Given the description of an element on the screen output the (x, y) to click on. 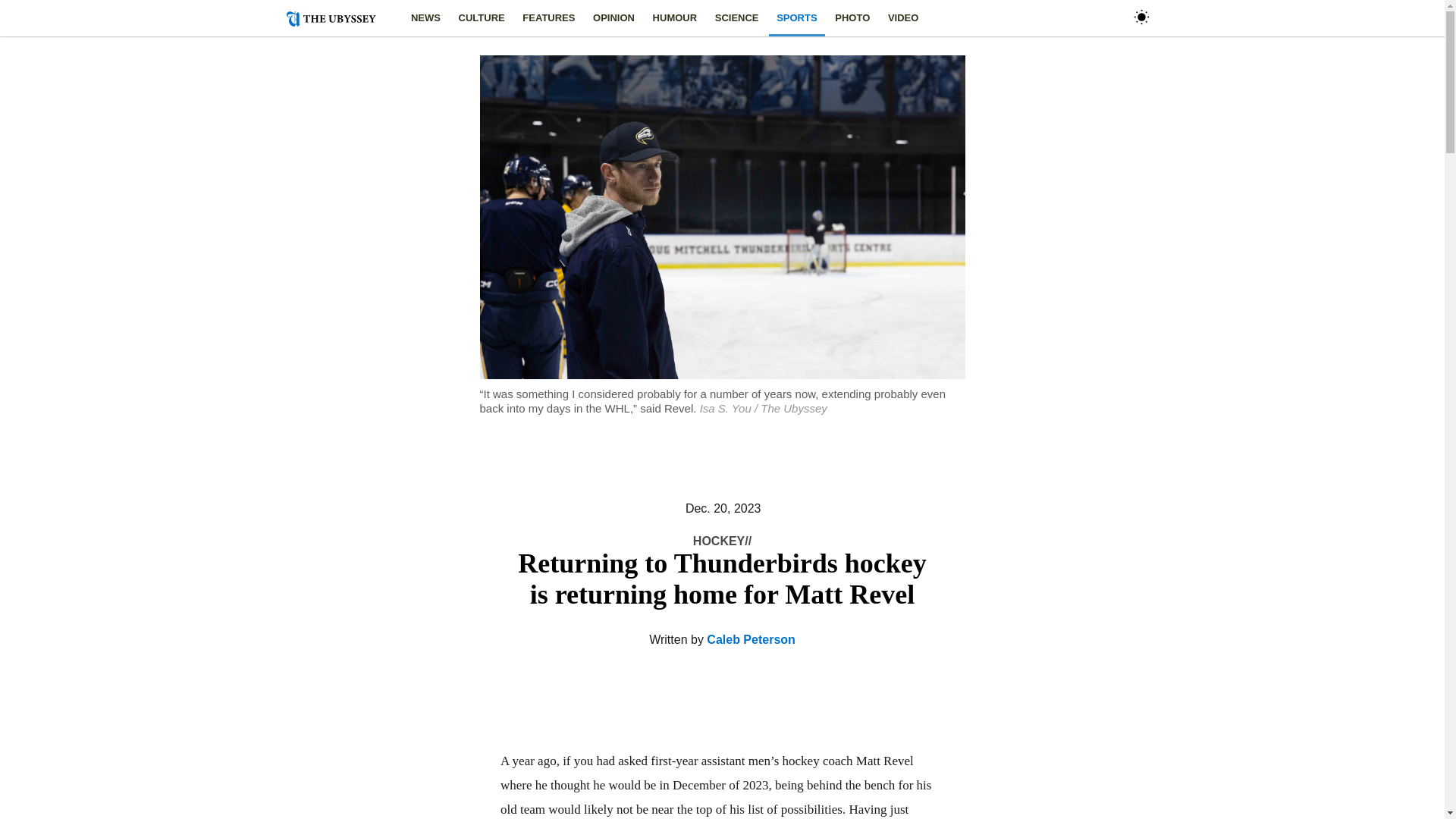
PHOTO (851, 18)
CULTURE (481, 18)
Caleb Peterson (750, 639)
SPORTS (796, 18)
FEATURES (548, 18)
The Ubyssey homepage (337, 17)
SCIENCE (736, 18)
OPINION (613, 18)
HUMOUR (674, 18)
